Given the description of an element on the screen output the (x, y) to click on. 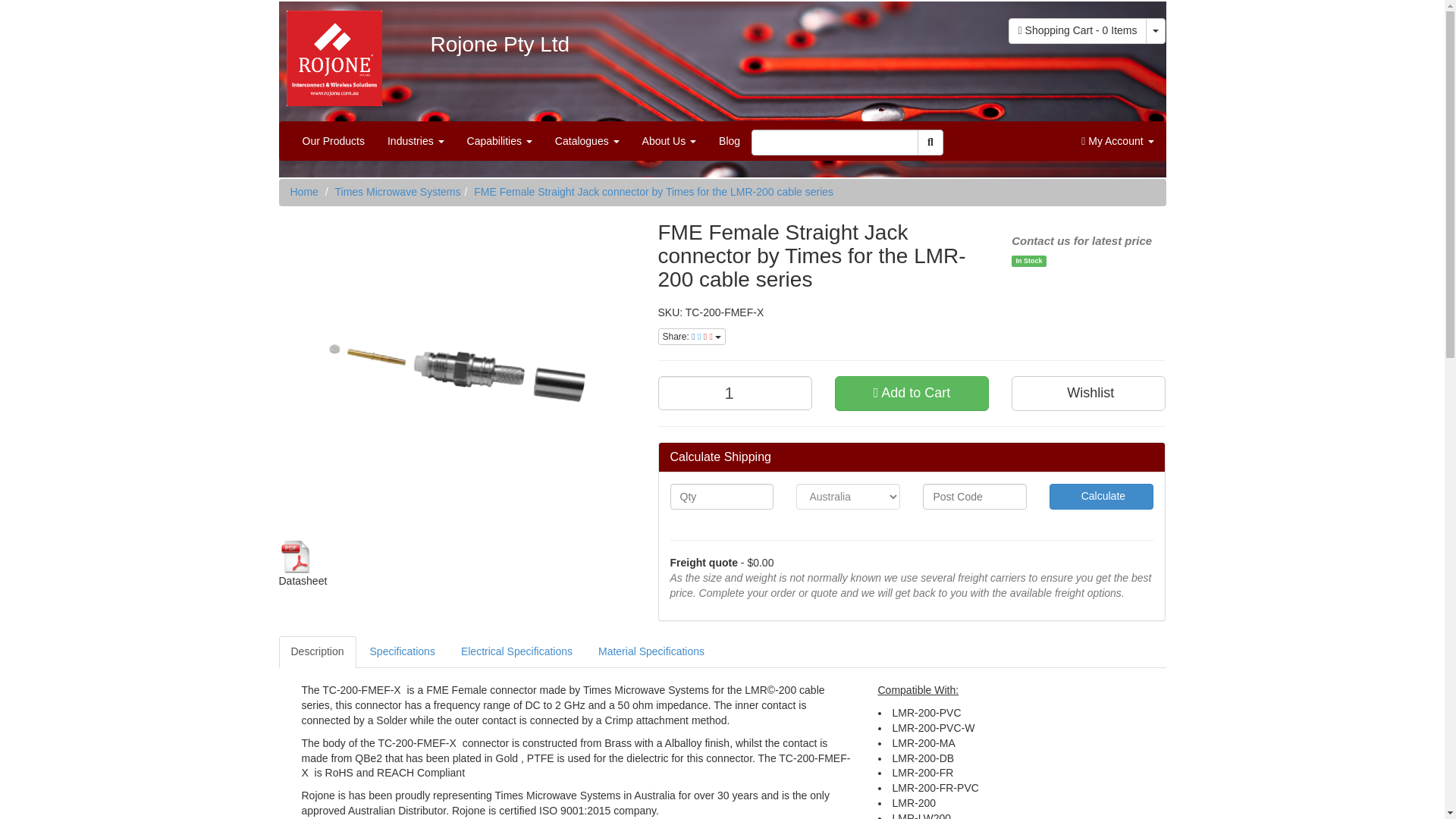
Our Products (333, 140)
Catalogues (586, 140)
Add to Cart (911, 393)
Capabilities (499, 140)
Rojone Pty Ltd (330, 53)
Industries (415, 140)
Calculate (1101, 496)
1 (735, 392)
Shopping Cart - 0 Items (1078, 31)
